Given the description of an element on the screen output the (x, y) to click on. 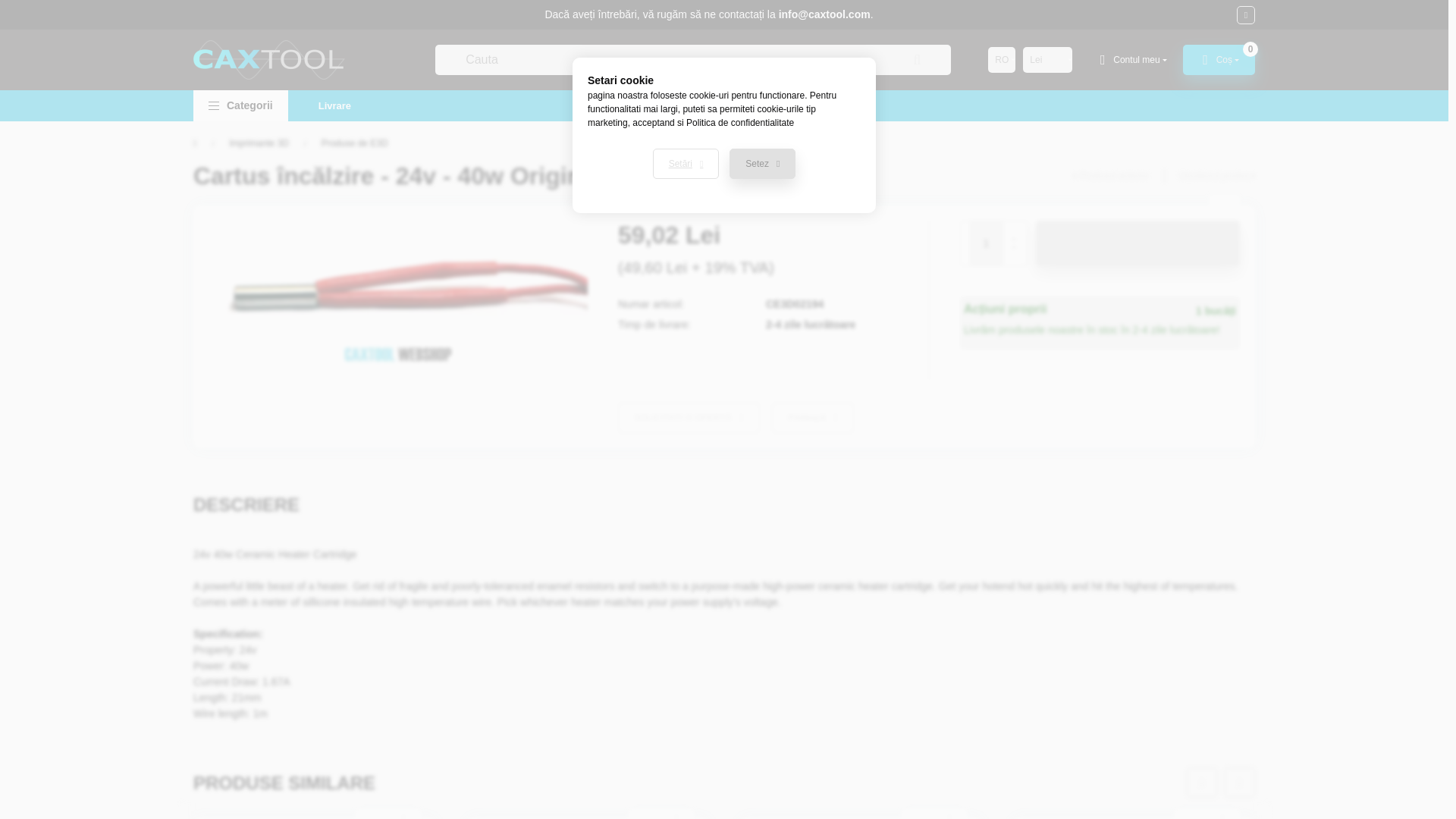
Categorii (240, 105)
Livrare (334, 105)
Imprimante 3D (258, 142)
Contul meu (1131, 60)
Produsul anterior (1110, 175)
Produsul anterior (1110, 175)
Produse de E3D (354, 142)
